Given the description of an element on the screen output the (x, y) to click on. 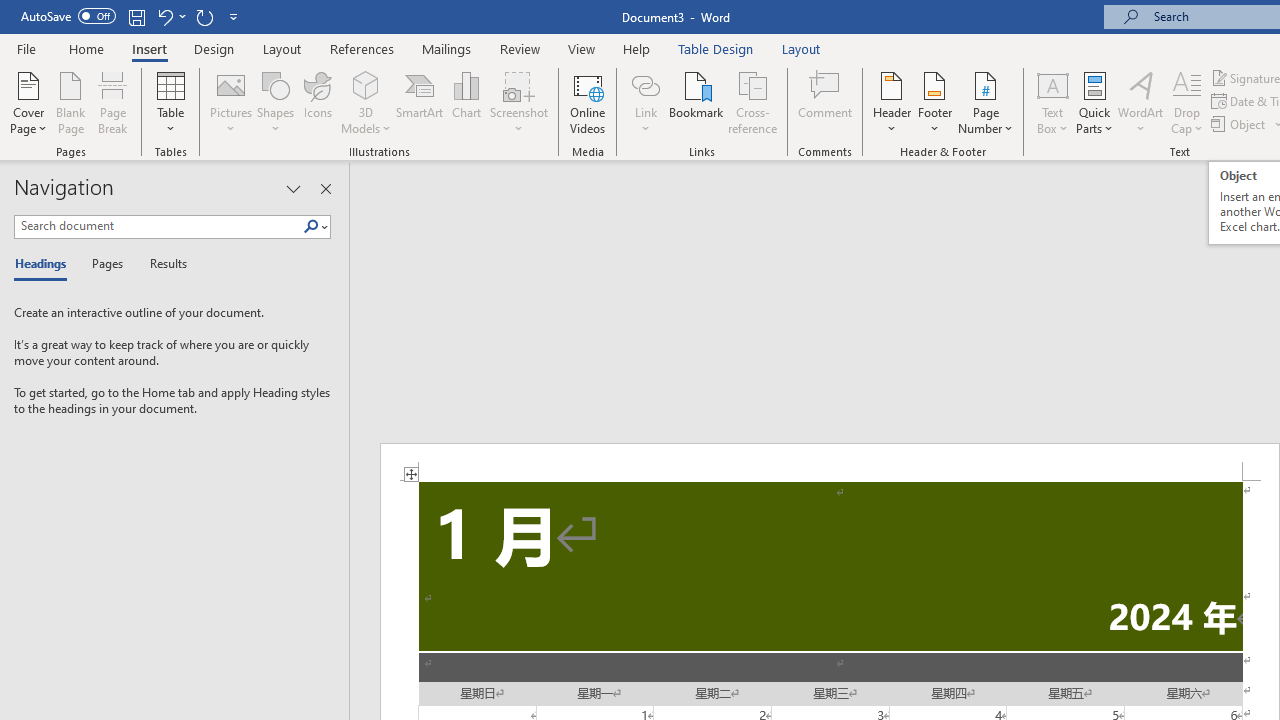
Page Break (113, 102)
Icons (317, 102)
3D Models (366, 102)
Screenshot (518, 102)
Cross-reference... (752, 102)
Quick Parts (1094, 102)
Text Box (1052, 102)
